Given the description of an element on the screen output the (x, y) to click on. 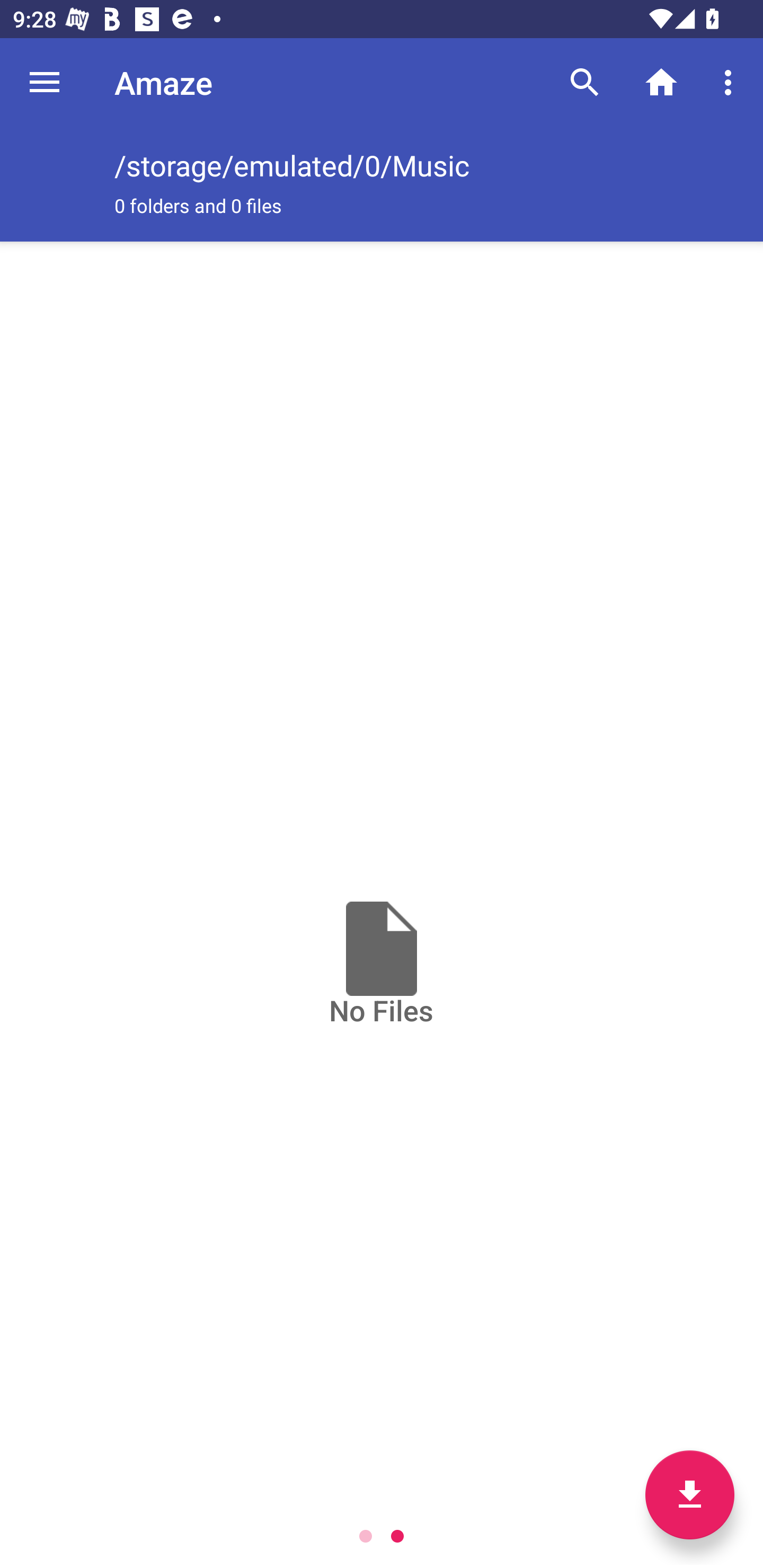
Navigate up (44, 82)
Search (585, 81)
Home (661, 81)
More options (731, 81)
